Given the description of an element on the screen output the (x, y) to click on. 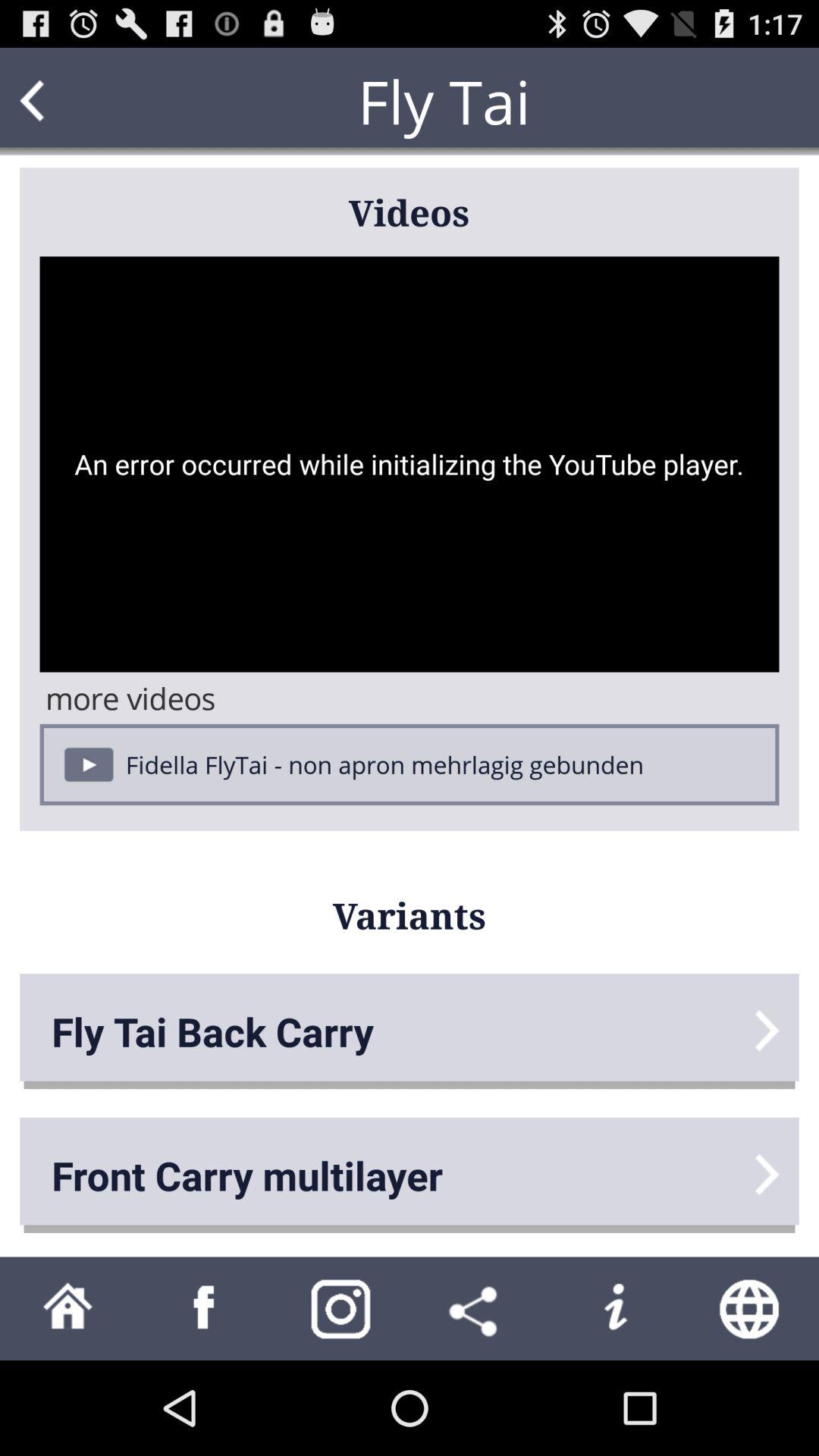
open web browser (750, 1308)
